Given the description of an element on the screen output the (x, y) to click on. 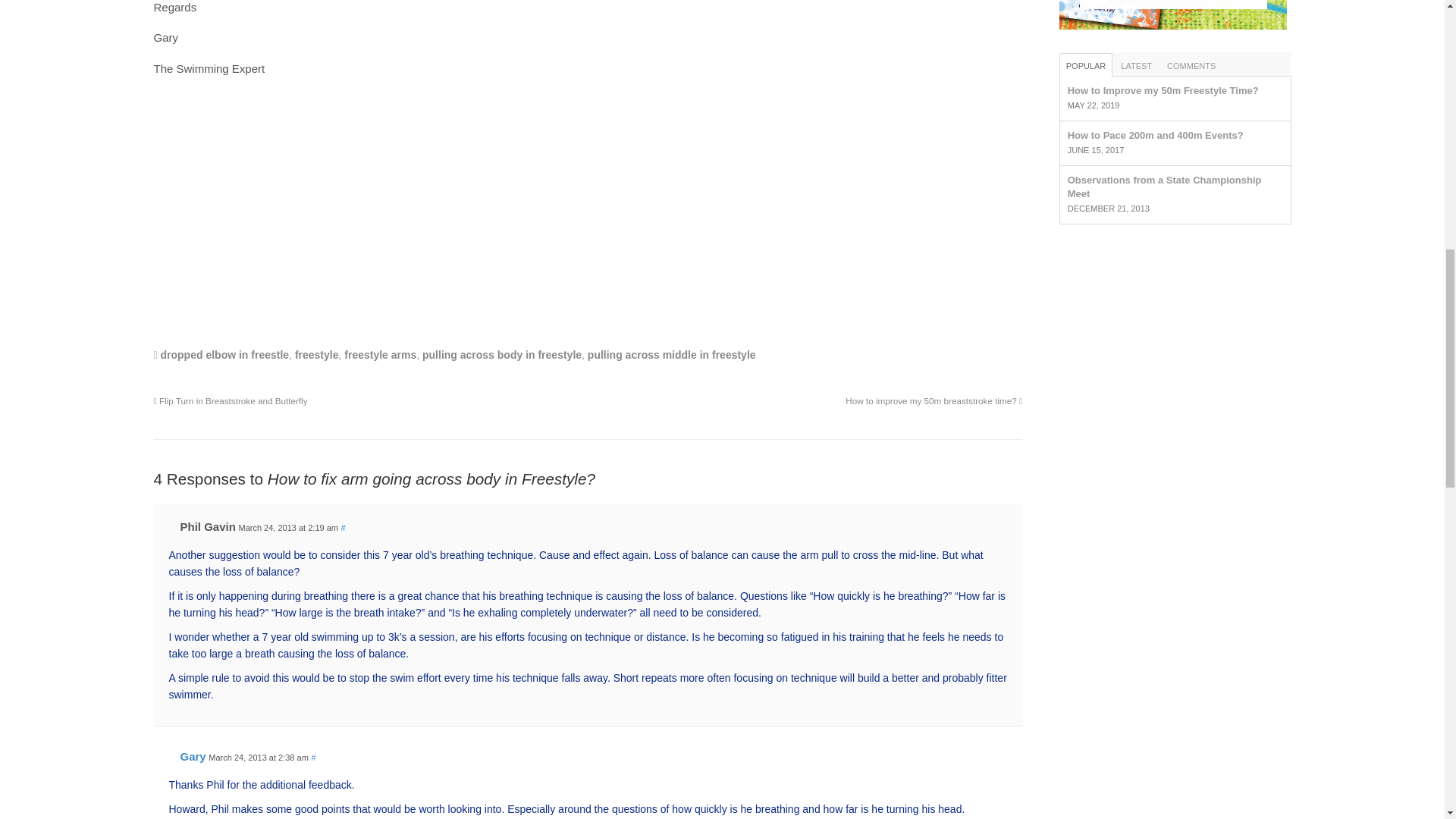
dropped elbow in freestle (224, 354)
Advertisement (587, 214)
pulling across middle in freestyle (671, 354)
Flip Turn in Breaststroke and Butterfly (229, 400)
freestyle arms (379, 354)
freestyle (317, 354)
pulling across body in freestyle (501, 354)
How to improve my 50m breaststroke time? (933, 400)
